Given the description of an element on the screen output the (x, y) to click on. 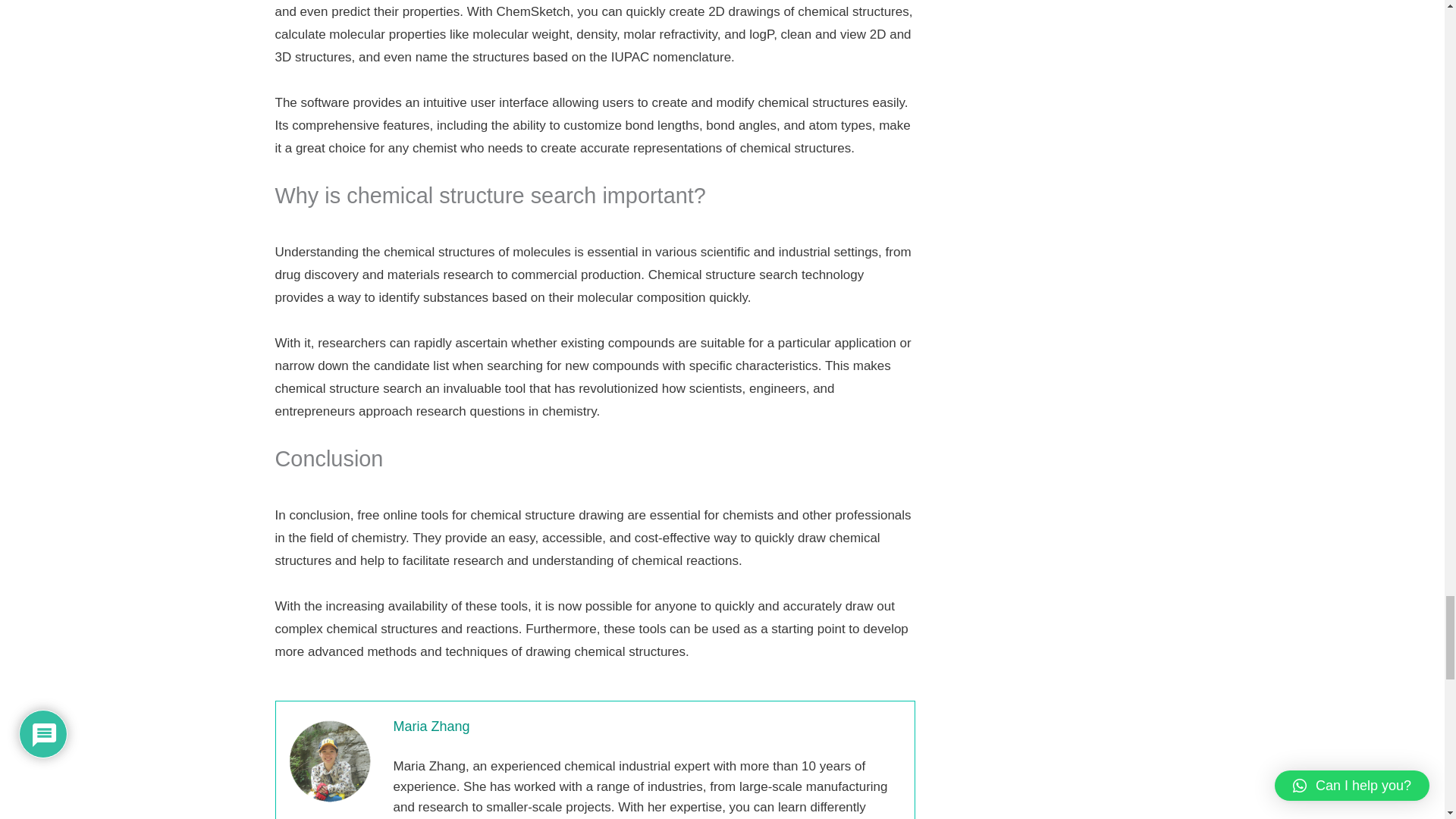
Maria Zhang (649, 734)
